Given the description of an element on the screen output the (x, y) to click on. 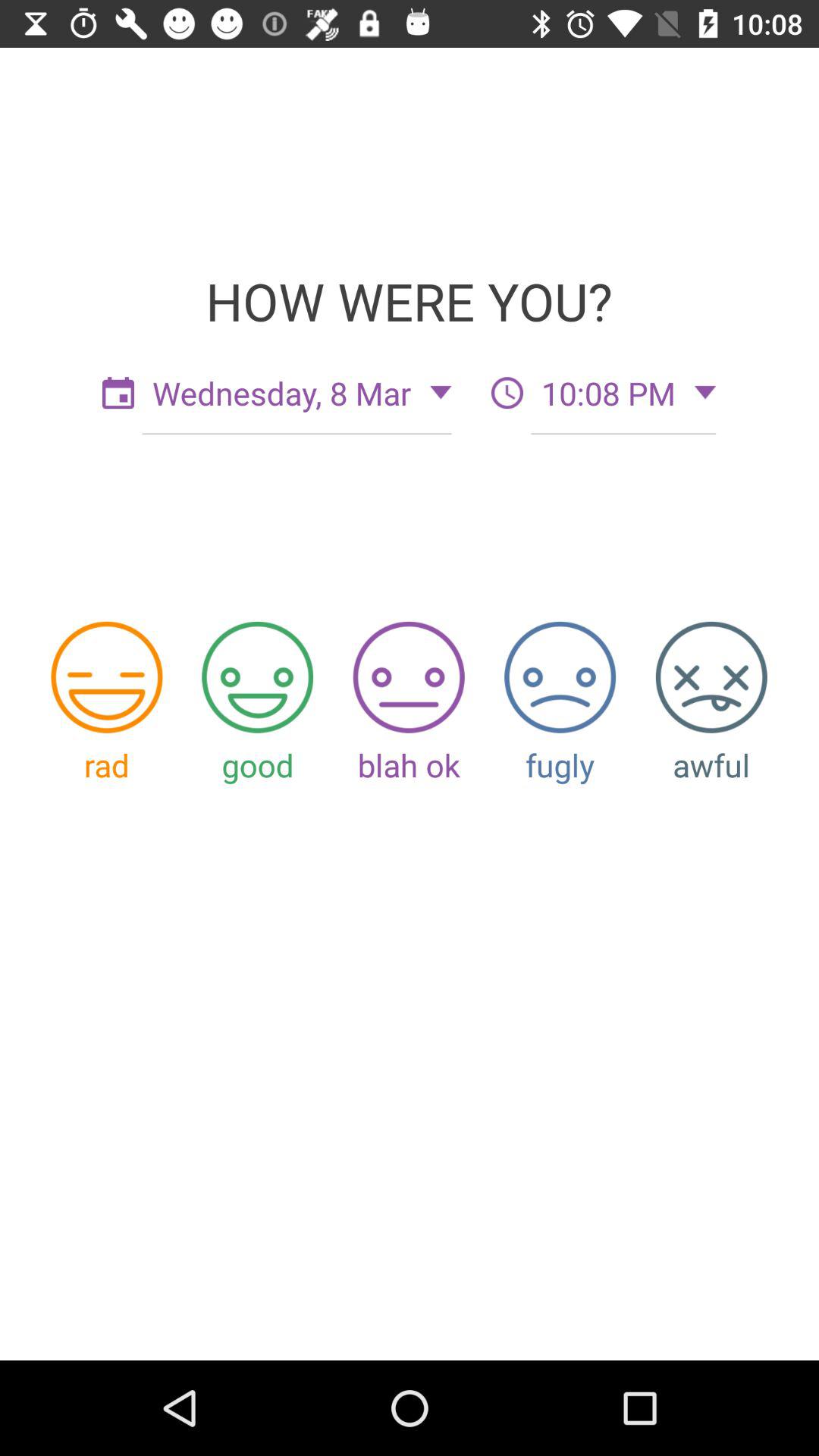
modify time (507, 392)
